Given the description of an element on the screen output the (x, y) to click on. 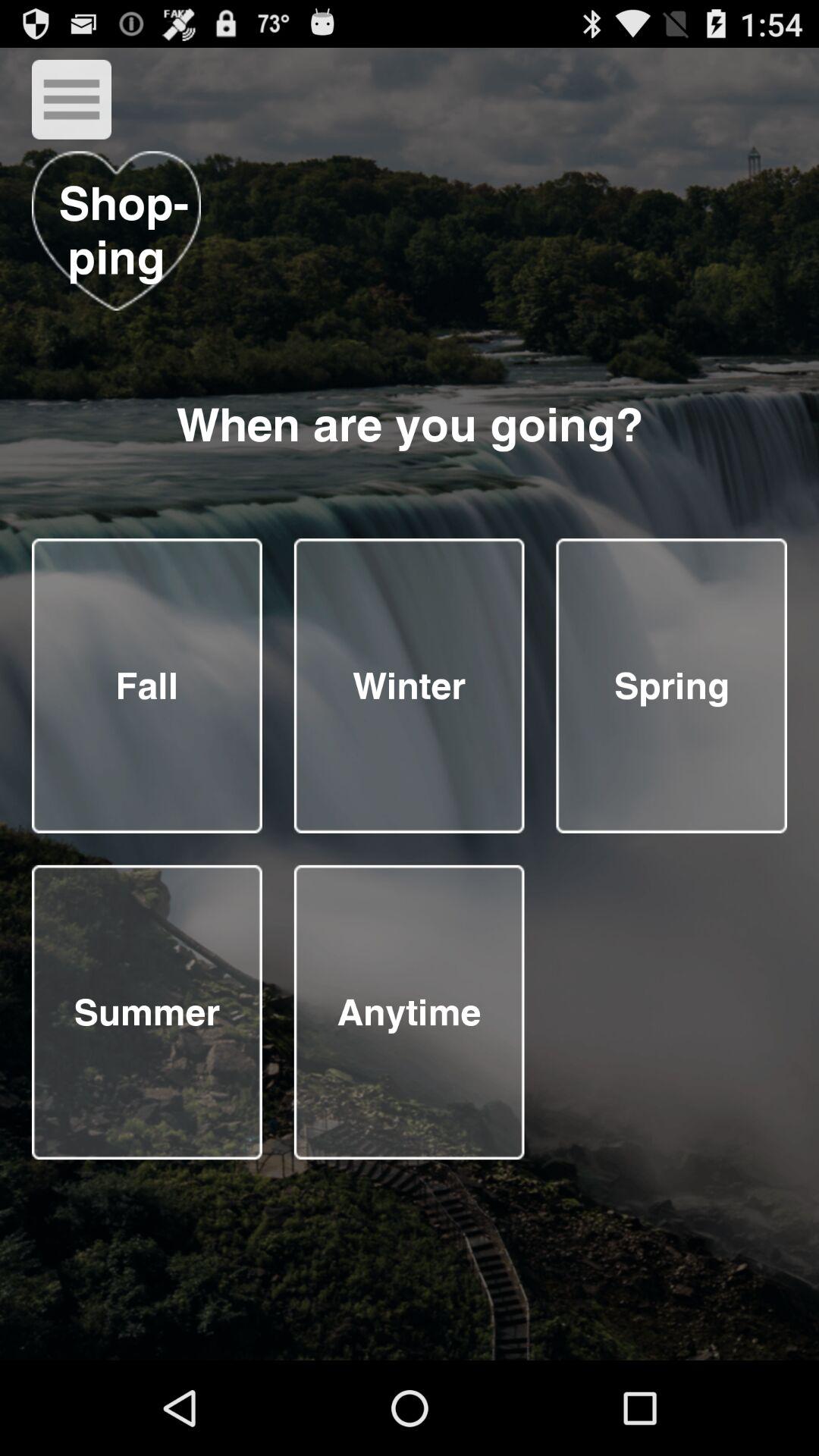
choose the season you are going (409, 685)
